Given the description of an element on the screen output the (x, y) to click on. 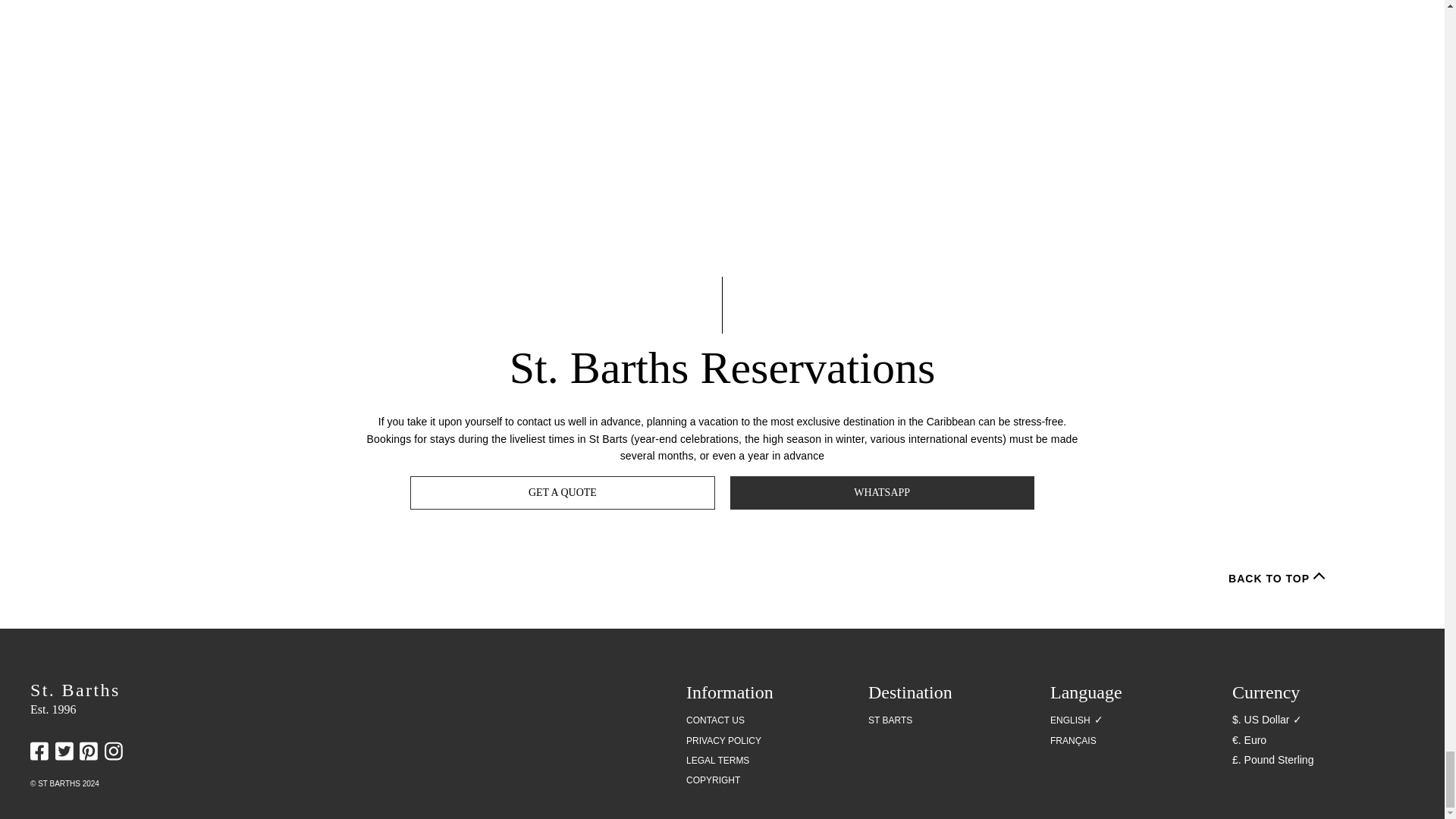
CONTACT US (714, 720)
PRIVACY POLICY (723, 740)
ENGLISH (1069, 720)
GET A QUOTE (562, 492)
ST BARTS (889, 720)
LEGAL TERMS (717, 760)
COPYRIGHT (712, 780)
WHATSAPP (881, 492)
